Given the description of an element on the screen output the (x, y) to click on. 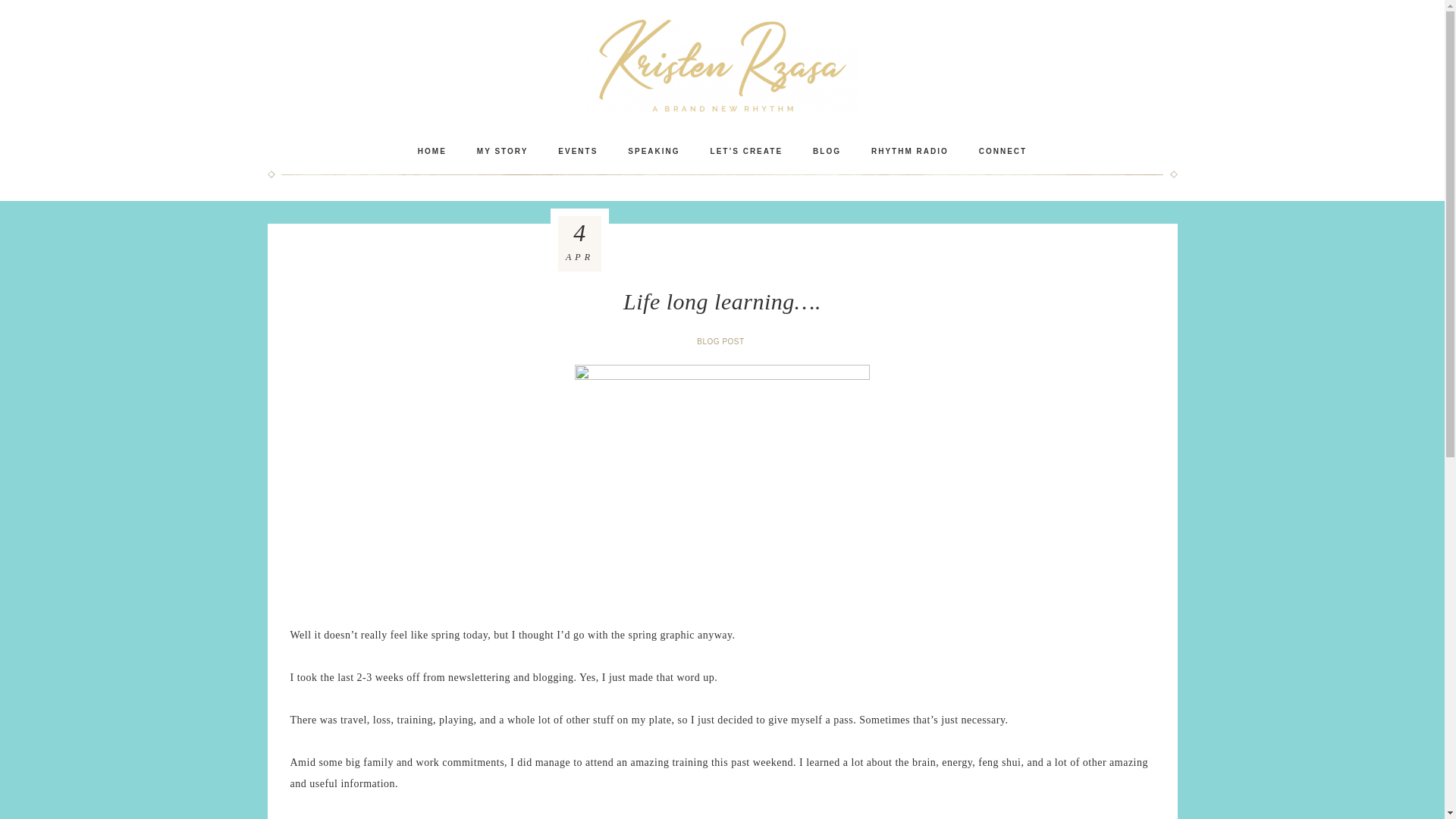
SPEAKING (653, 151)
BLOG POST (721, 341)
RHYTHM RADIO (909, 151)
EVENTS (577, 151)
KRISTEN RZASA (722, 65)
MY STORY (502, 151)
HOME (432, 151)
BLOG (826, 151)
CONNECT (1002, 151)
